Given the description of an element on the screen output the (x, y) to click on. 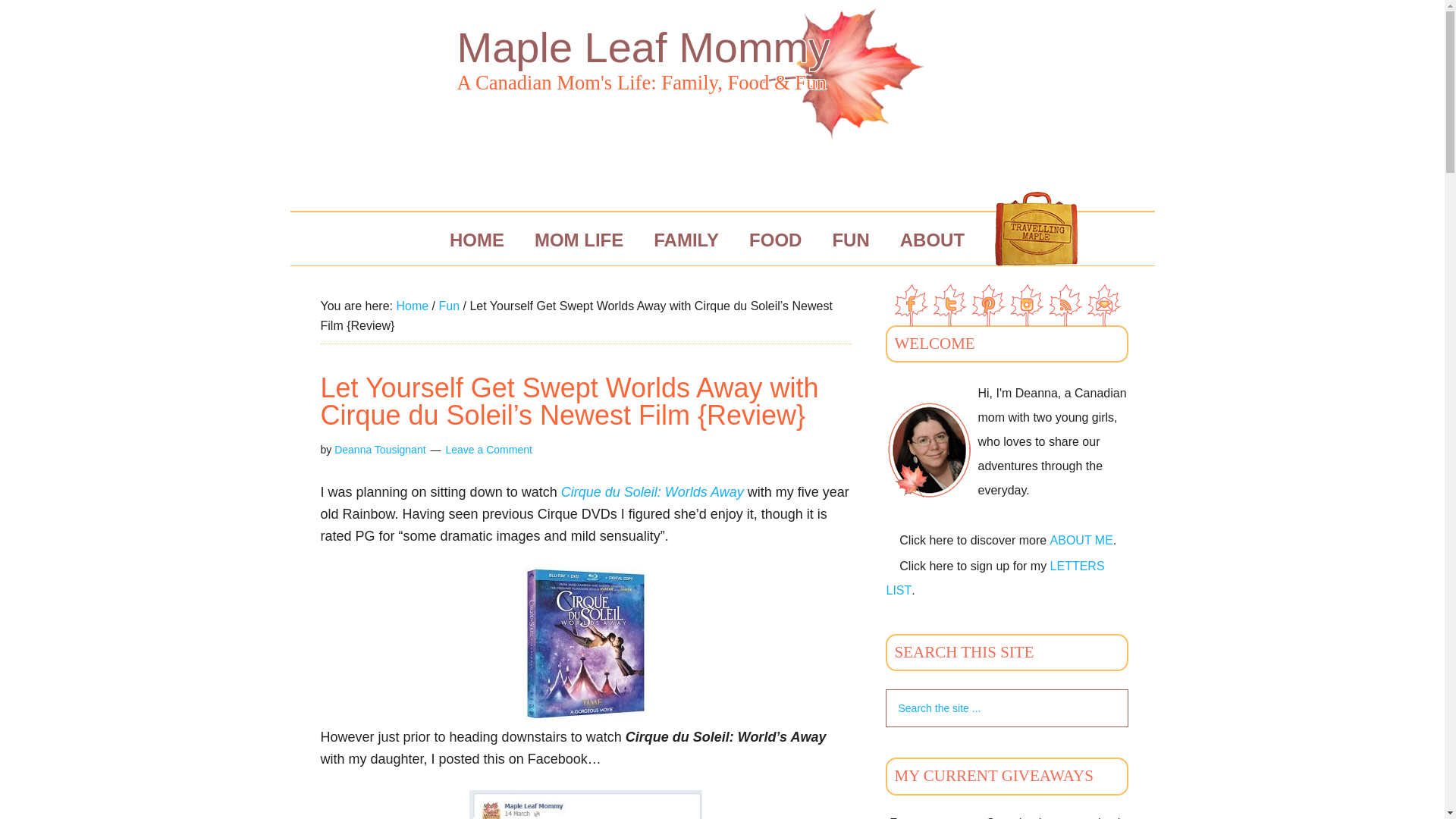
FOOD (774, 240)
Leave a Comment (488, 449)
Cirque du Soleil: Worlds Away (652, 491)
ABOUT (932, 240)
MOM LIFE (579, 240)
Fun (449, 305)
Home (412, 305)
Deanna Tousignant (379, 449)
HOME (476, 240)
FUN (849, 240)
Maple Leaf Mommy (643, 47)
FAMILY (686, 240)
